Given the description of an element on the screen output the (x, y) to click on. 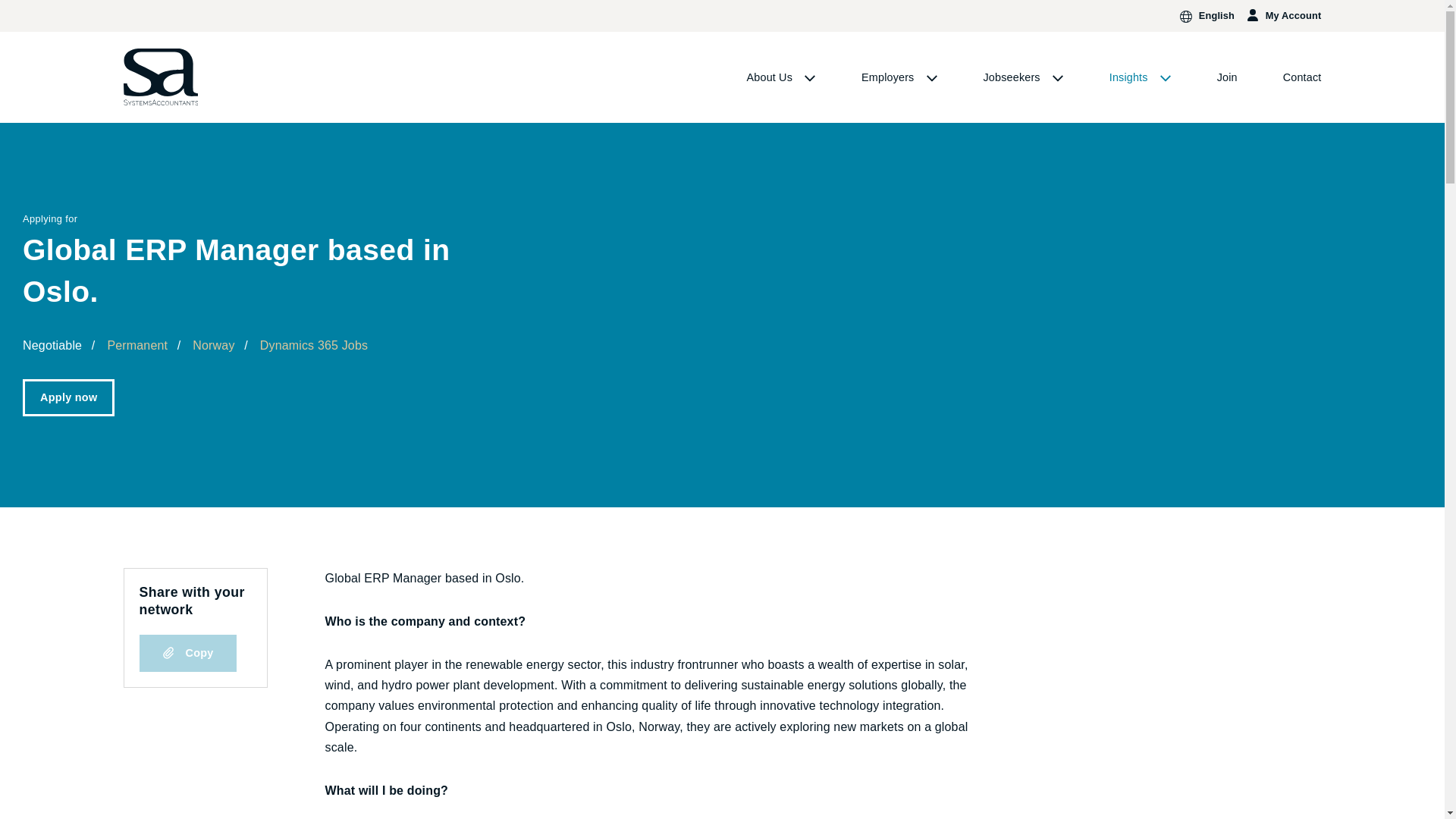
Contact (1302, 77)
View more in Dynamics 365 Jobs (314, 345)
SystemsAccountants (160, 76)
Insights (1140, 77)
View more in Permanent (136, 345)
My Account (1283, 15)
Join (1227, 77)
View more in Norway (213, 345)
About Us (781, 77)
Employers (899, 77)
